Given the description of an element on the screen output the (x, y) to click on. 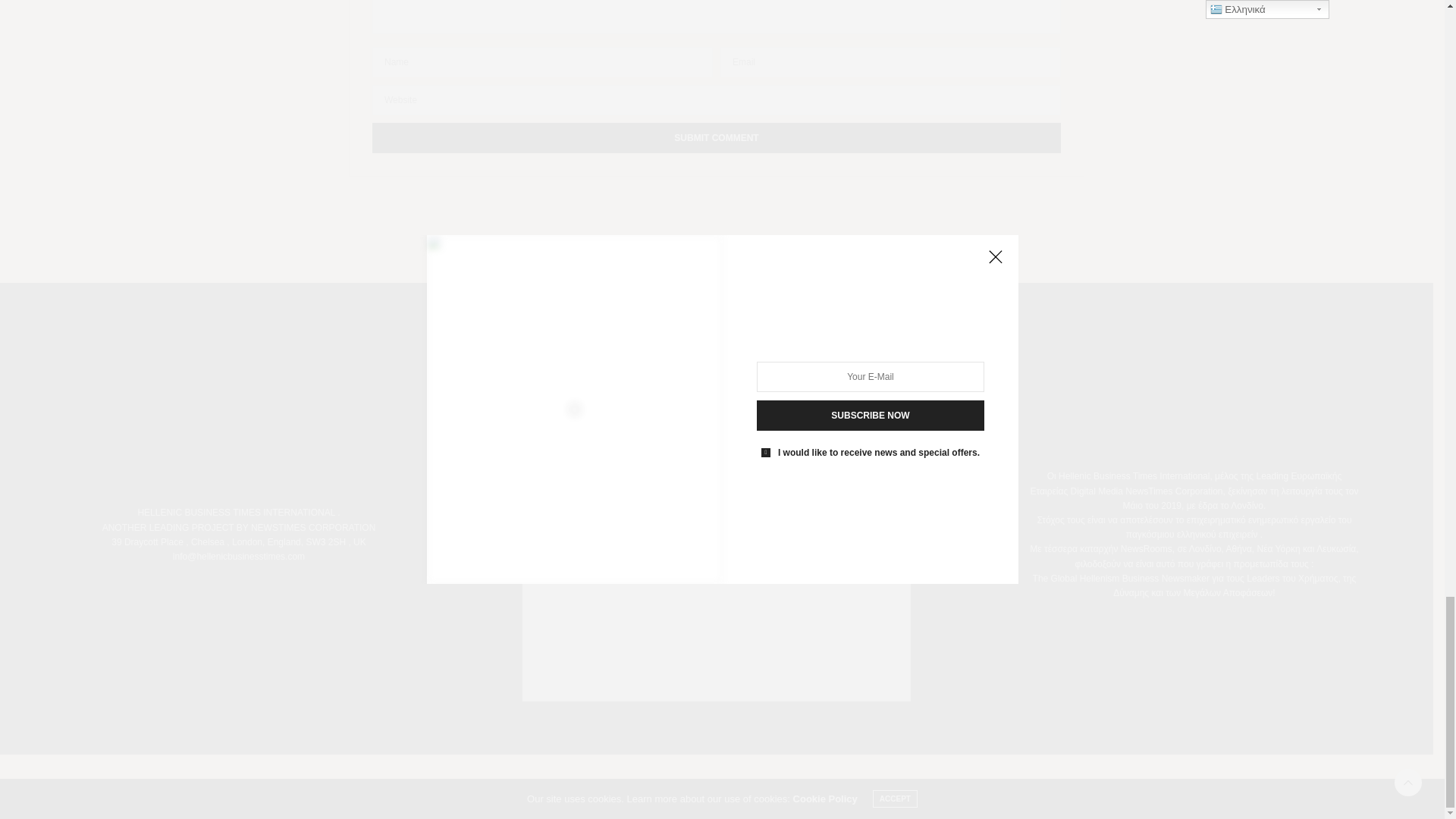
Submit Comment (716, 137)
